Given the description of an element on the screen output the (x, y) to click on. 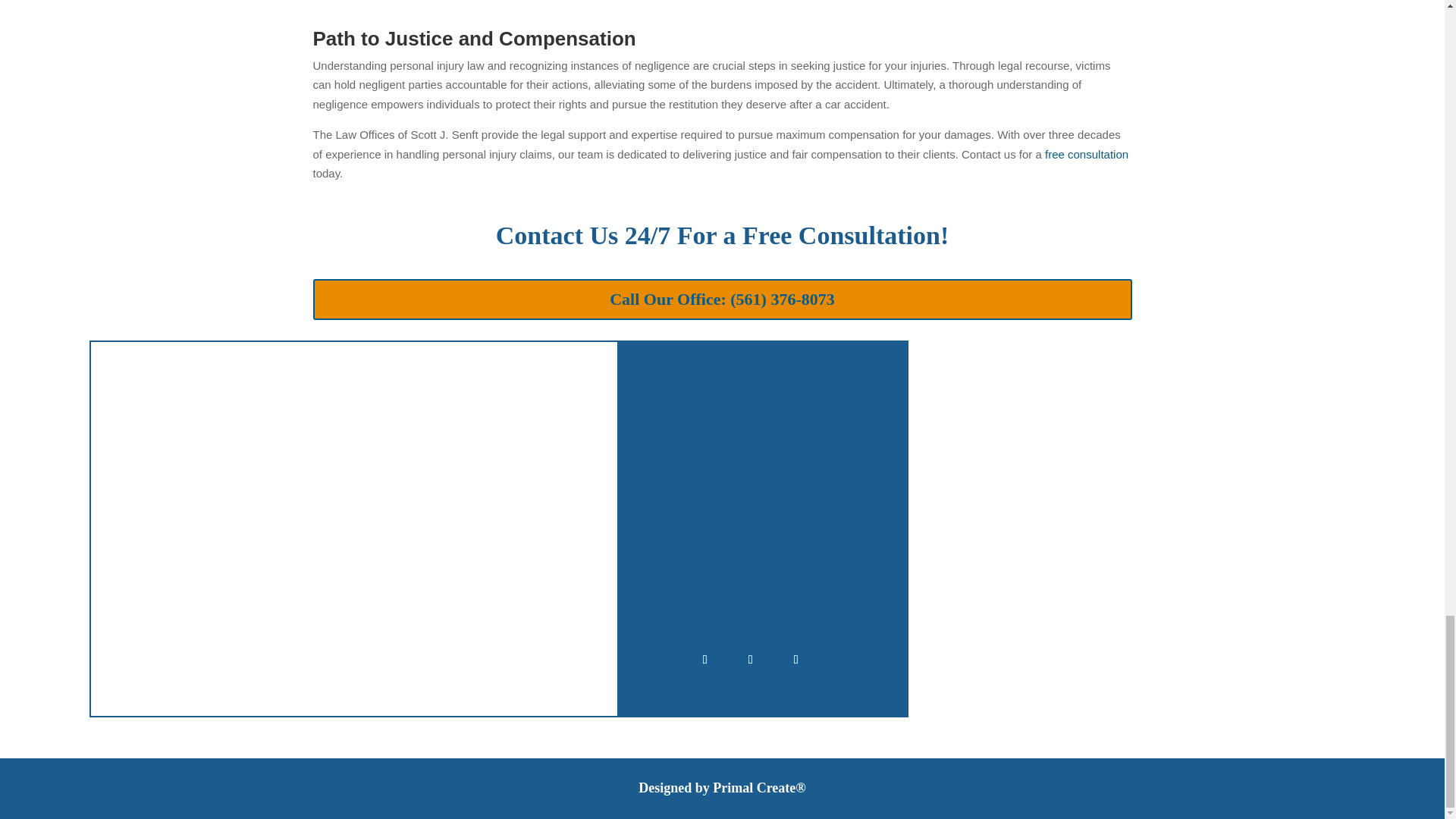
Follow on LinkedIn (795, 659)
Follow on Facebook (705, 659)
Follow on X (750, 659)
